Given the description of an element on the screen output the (x, y) to click on. 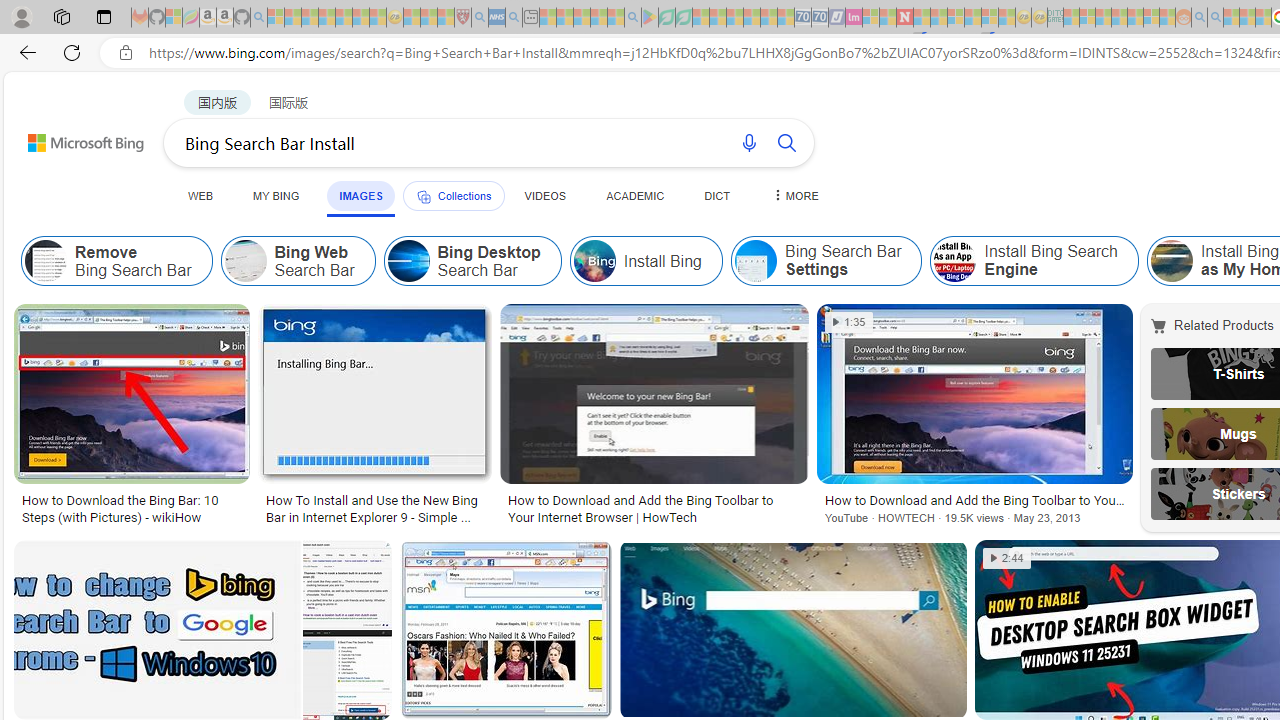
Cheap Hotels - Save70.com - Sleeping (819, 17)
Jobs - lastminute.com Investor Portal - Sleeping (853, 17)
Pets - MSN - Sleeping (598, 17)
Image result for Bing Search Bar Install (792, 630)
Kinda Frugal - MSN - Sleeping (1135, 17)
MORE (793, 195)
